Given the description of an element on the screen output the (x, y) to click on. 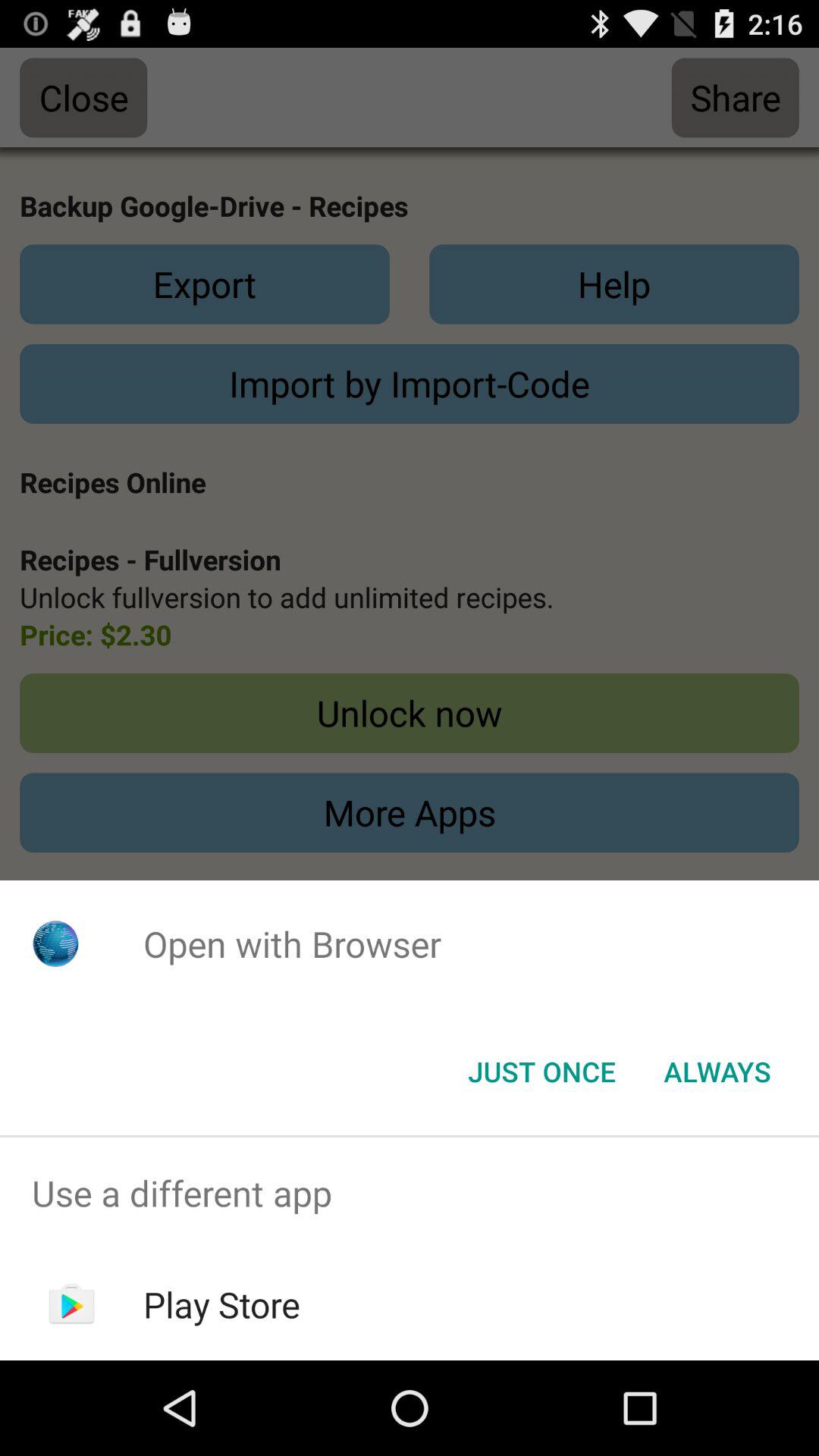
turn off always (717, 1071)
